Given the description of an element on the screen output the (x, y) to click on. 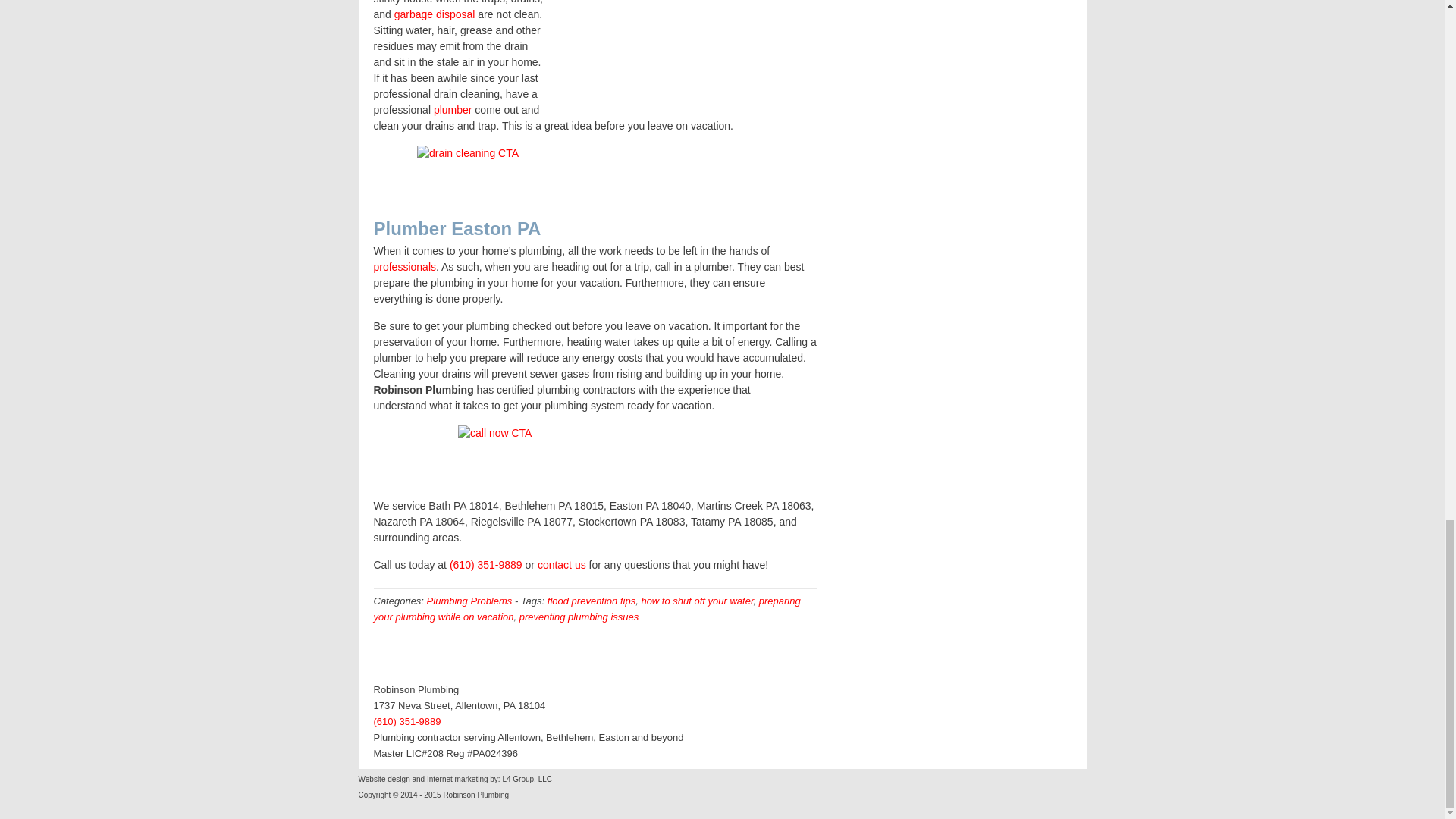
professionals (403, 266)
preventing plumbing issues (579, 616)
how to shut off your water (696, 600)
flood prevention tips (590, 600)
Plumbing Problems (469, 600)
garbage disposal (435, 14)
plumber (452, 110)
contact us (561, 564)
preparing your plumbing while on vacation (585, 608)
